Given the description of an element on the screen output the (x, y) to click on. 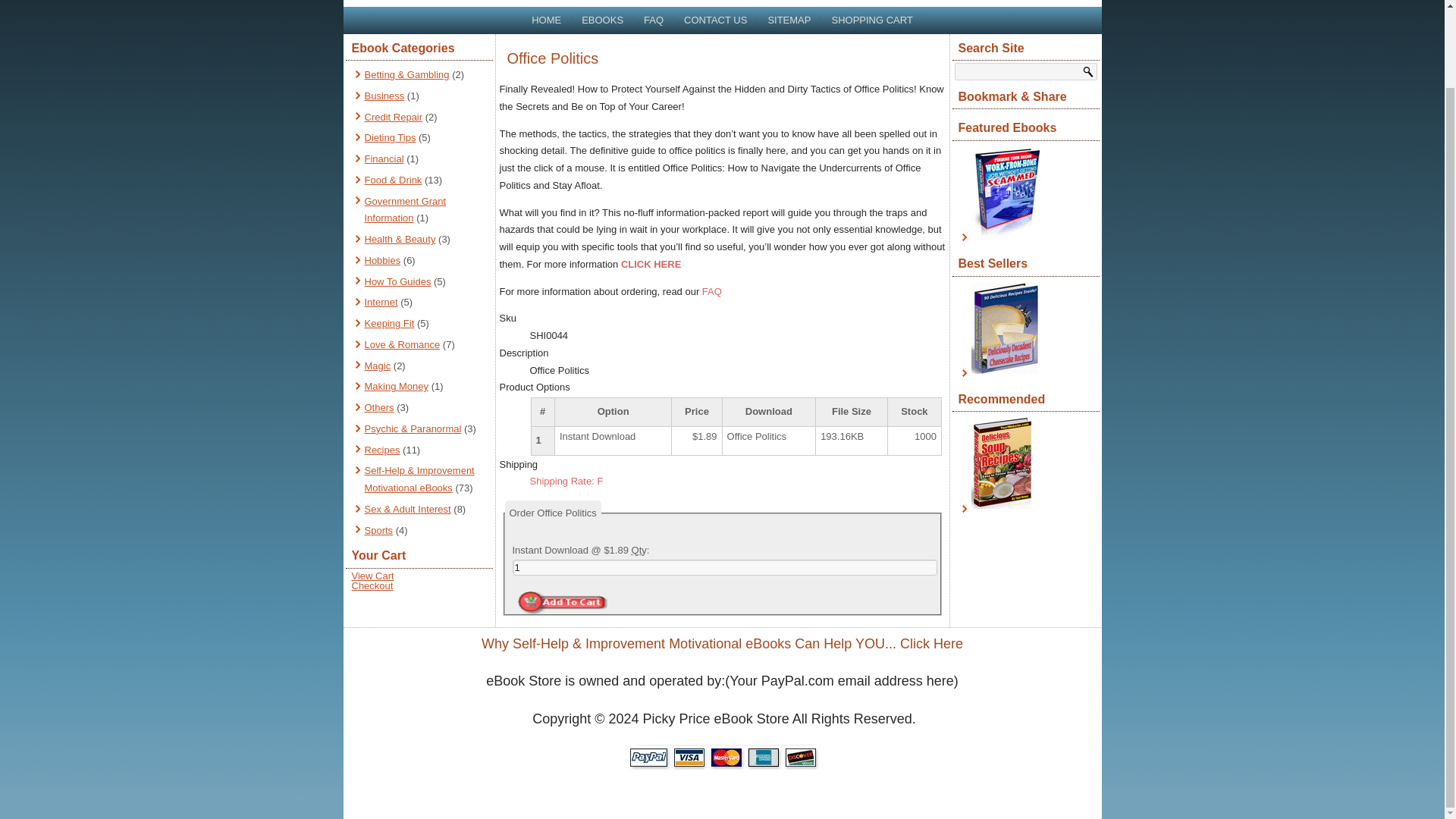
Dieting Tips (389, 137)
FAQ (653, 20)
Keeping Fit (388, 323)
Quantity (638, 550)
HOME (546, 20)
Shipping Rate: F (565, 480)
Others (378, 407)
Ebooks (601, 20)
Government Grant Information (404, 209)
Shopping Cart (871, 20)
Add to Cart (561, 602)
EBOOKS (601, 20)
Home (546, 20)
FAQ (653, 20)
How To Guides (397, 281)
